Given the description of an element on the screen output the (x, y) to click on. 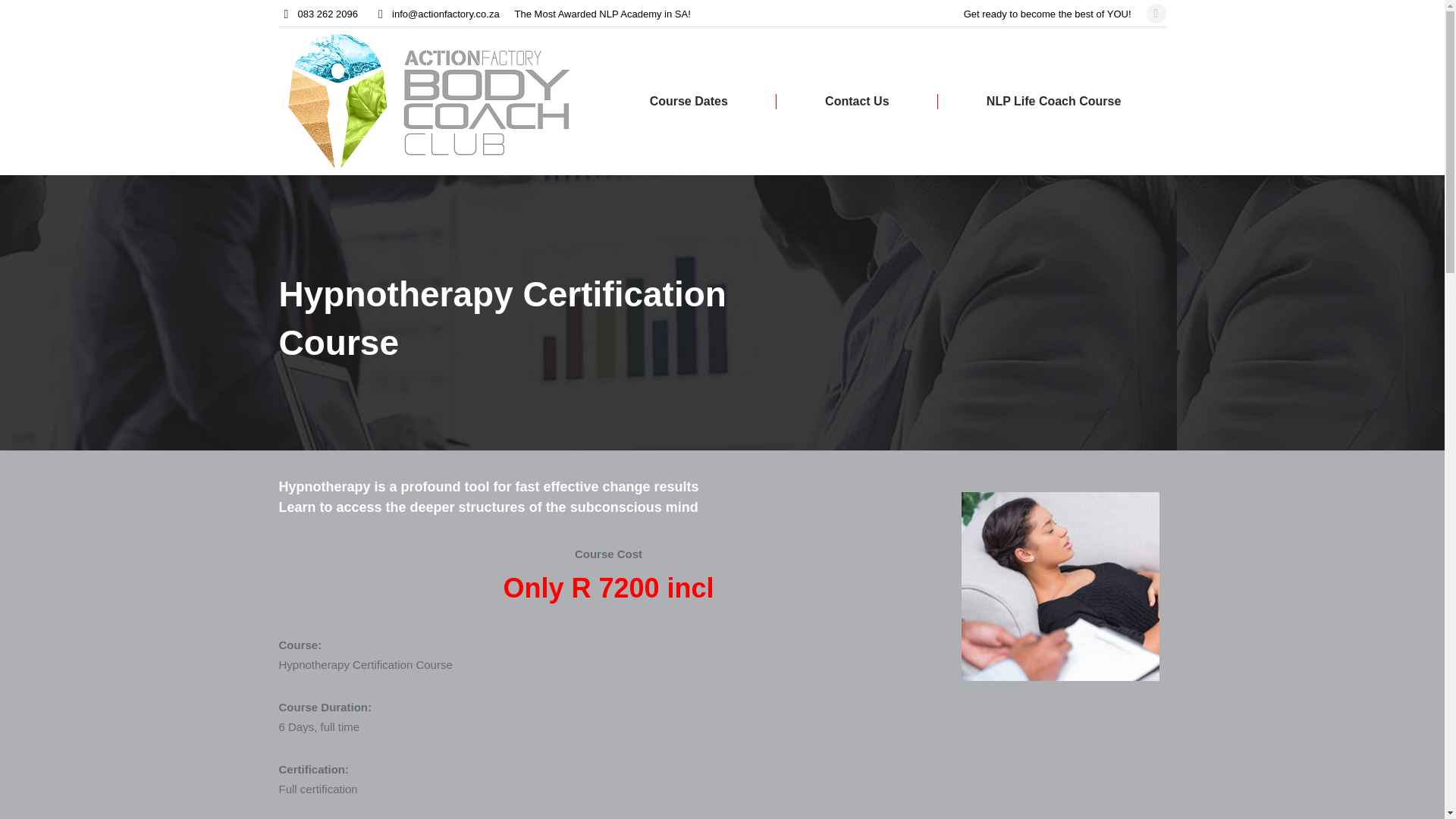
Facebook page opens in new window (1156, 13)
hypnocourse (1059, 586)
Course Dates (689, 101)
Facebook page opens in new window (1156, 13)
Contact Us (857, 101)
NLP Life Coach Course (1054, 101)
